Given the description of an element on the screen output the (x, y) to click on. 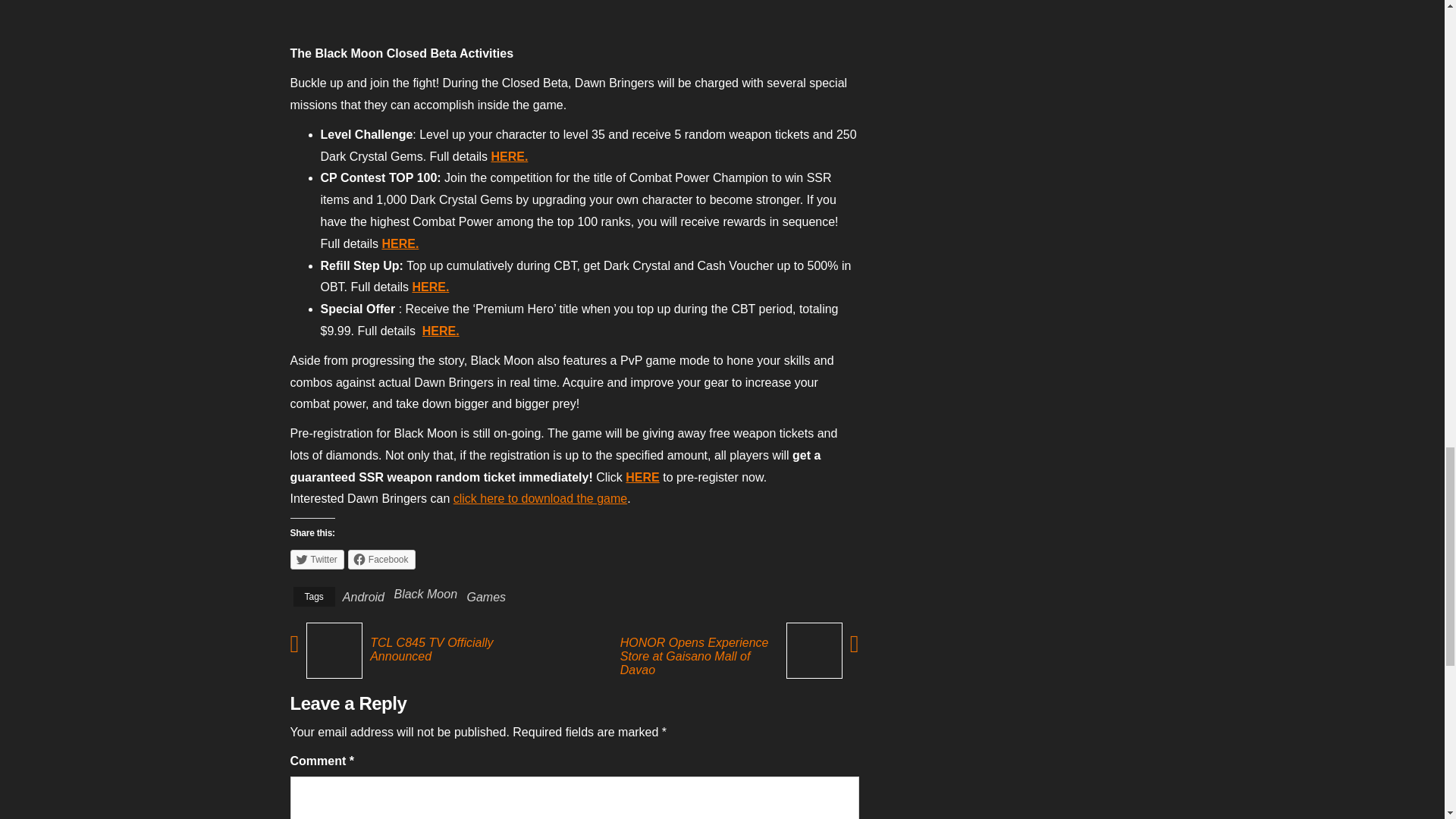
click here to download the game (539, 498)
HERE (642, 477)
Black Moon (425, 594)
TCL C845 TV Officially Announced (452, 649)
HERE. (430, 286)
HERE. (508, 155)
HERE. (441, 330)
Games (486, 596)
Android (363, 596)
Facebook (380, 559)
HONOR Opens Experience Store at Gaisano Mall of Davao (695, 656)
Click to share on Facebook (380, 559)
HERE. (400, 243)
Twitter (316, 559)
Click to share on Twitter (316, 559)
